Given the description of an element on the screen output the (x, y) to click on. 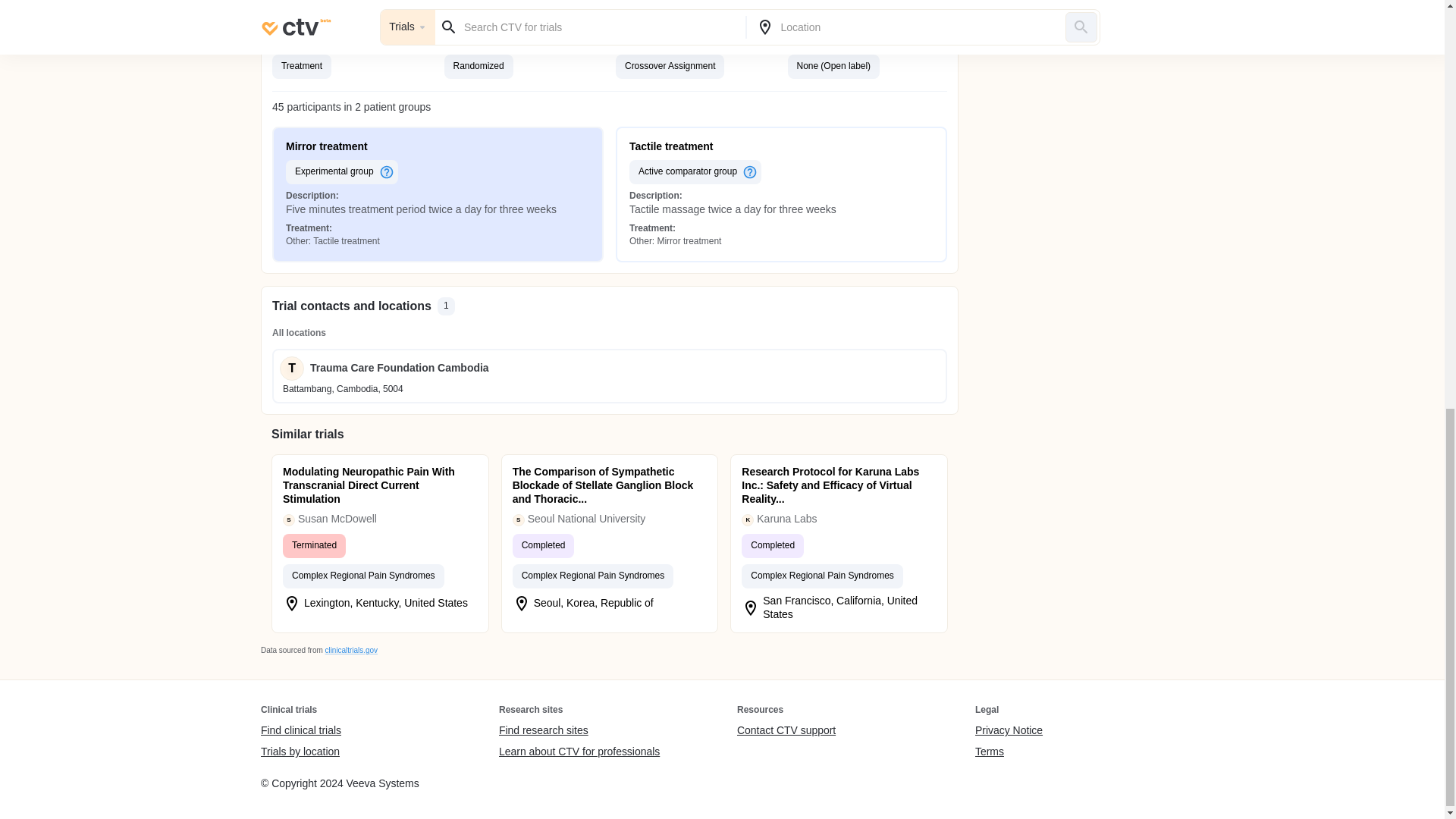
Learn about CTV for professionals (579, 752)
Find clinical trials (300, 730)
Terms (1008, 752)
clinicaltrials.gov (350, 650)
Contact CTV support (785, 730)
Find research sites (579, 730)
Trials by location (300, 752)
Privacy Notice (1008, 730)
